Given the description of an element on the screen output the (x, y) to click on. 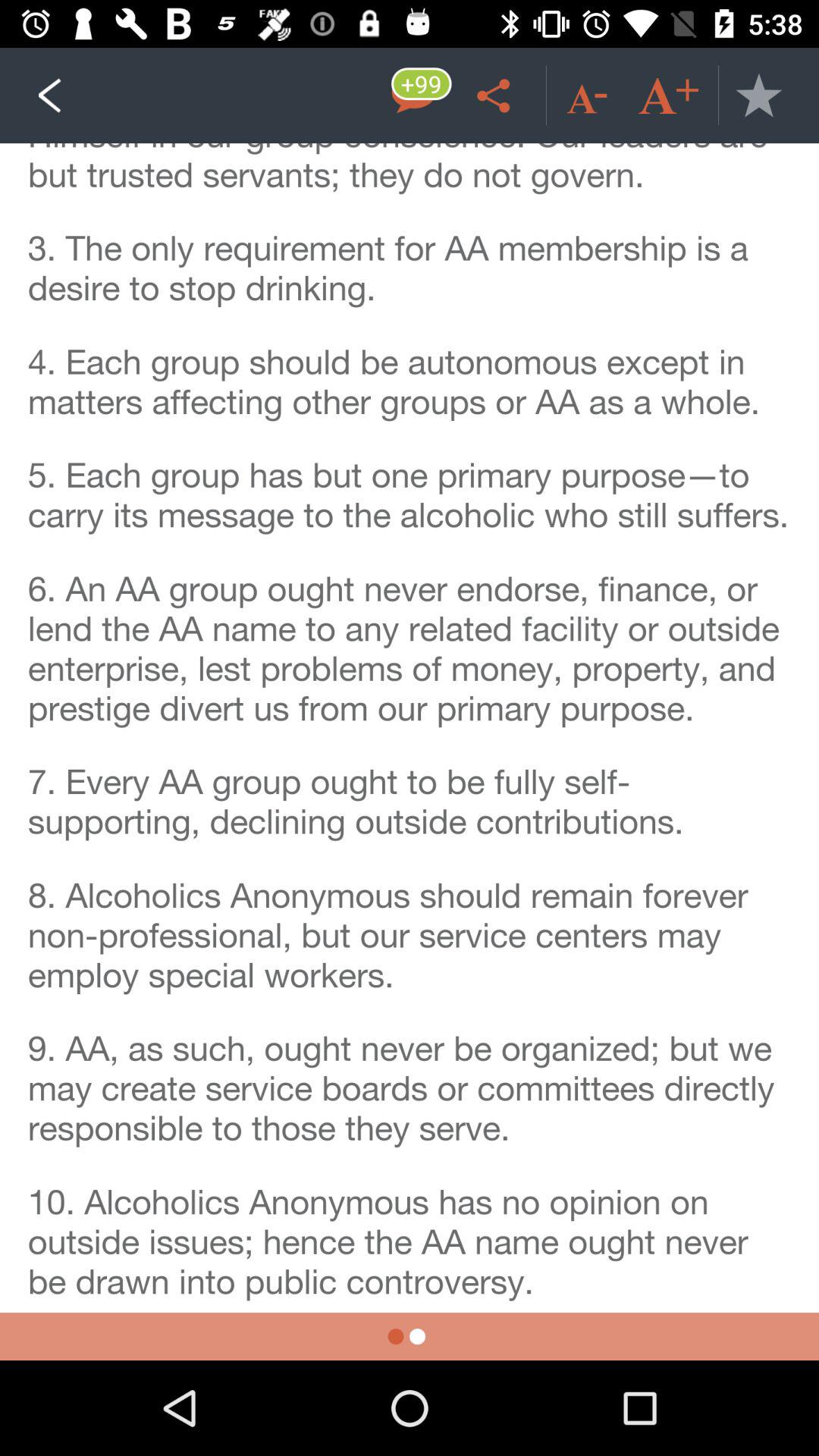
share this (495, 95)
